Given the description of an element on the screen output the (x, y) to click on. 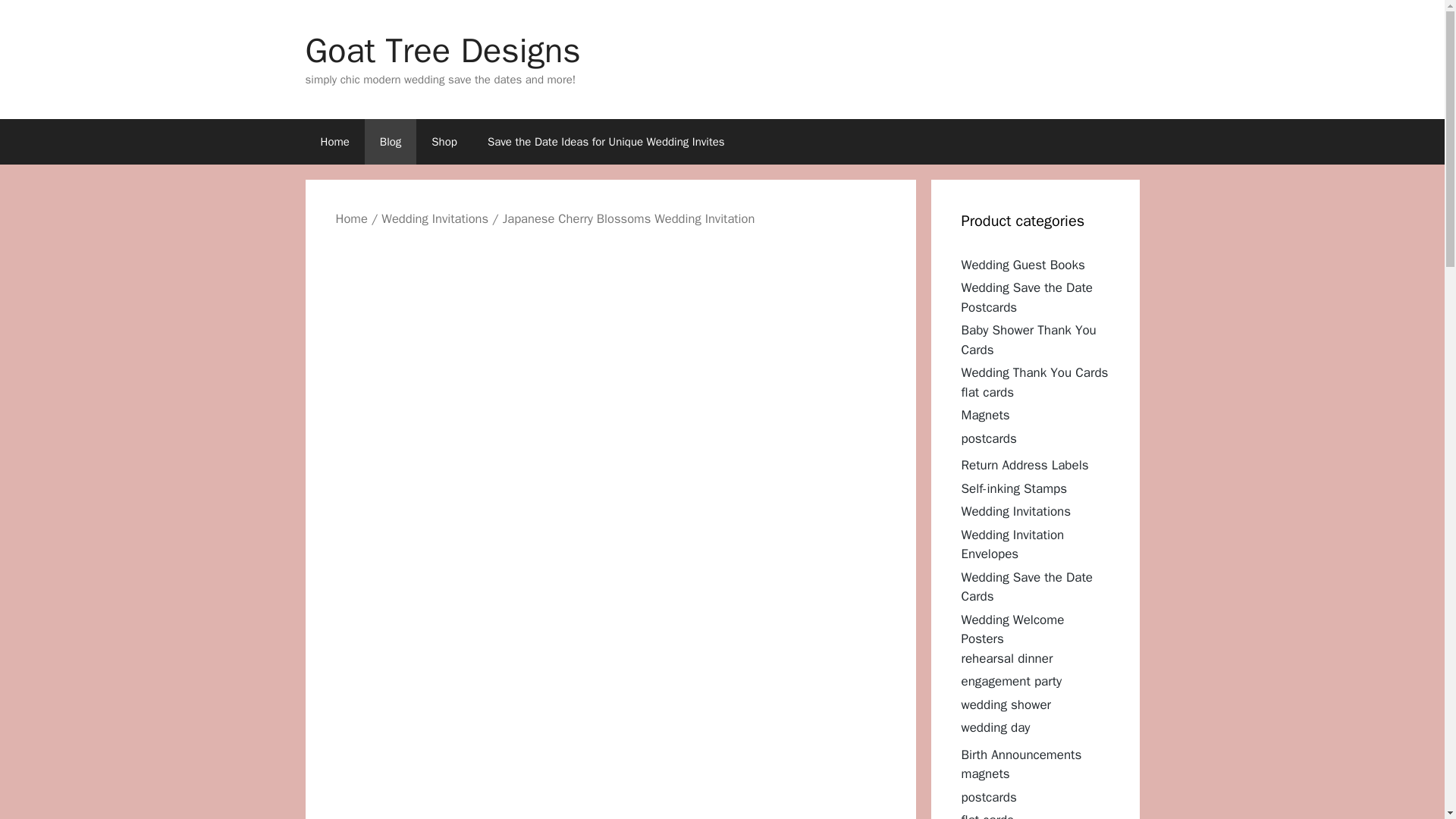
Wedding Save the Date Postcards (1026, 297)
Wedding Save the Date Cards (1026, 586)
Save the Date Ideas for Unique Wedding Invites (605, 140)
wedding day (995, 727)
postcards (988, 438)
Return Address Labels (1024, 465)
Home (350, 218)
Wedding Invitations (434, 218)
Wedding Welcome Posters (1012, 628)
rehearsal dinner (1006, 658)
Home (334, 140)
Shop (443, 140)
Self-inking Stamps (1013, 488)
Wedding Invitations (1015, 511)
wedding shower (1005, 703)
